Given the description of an element on the screen output the (x, y) to click on. 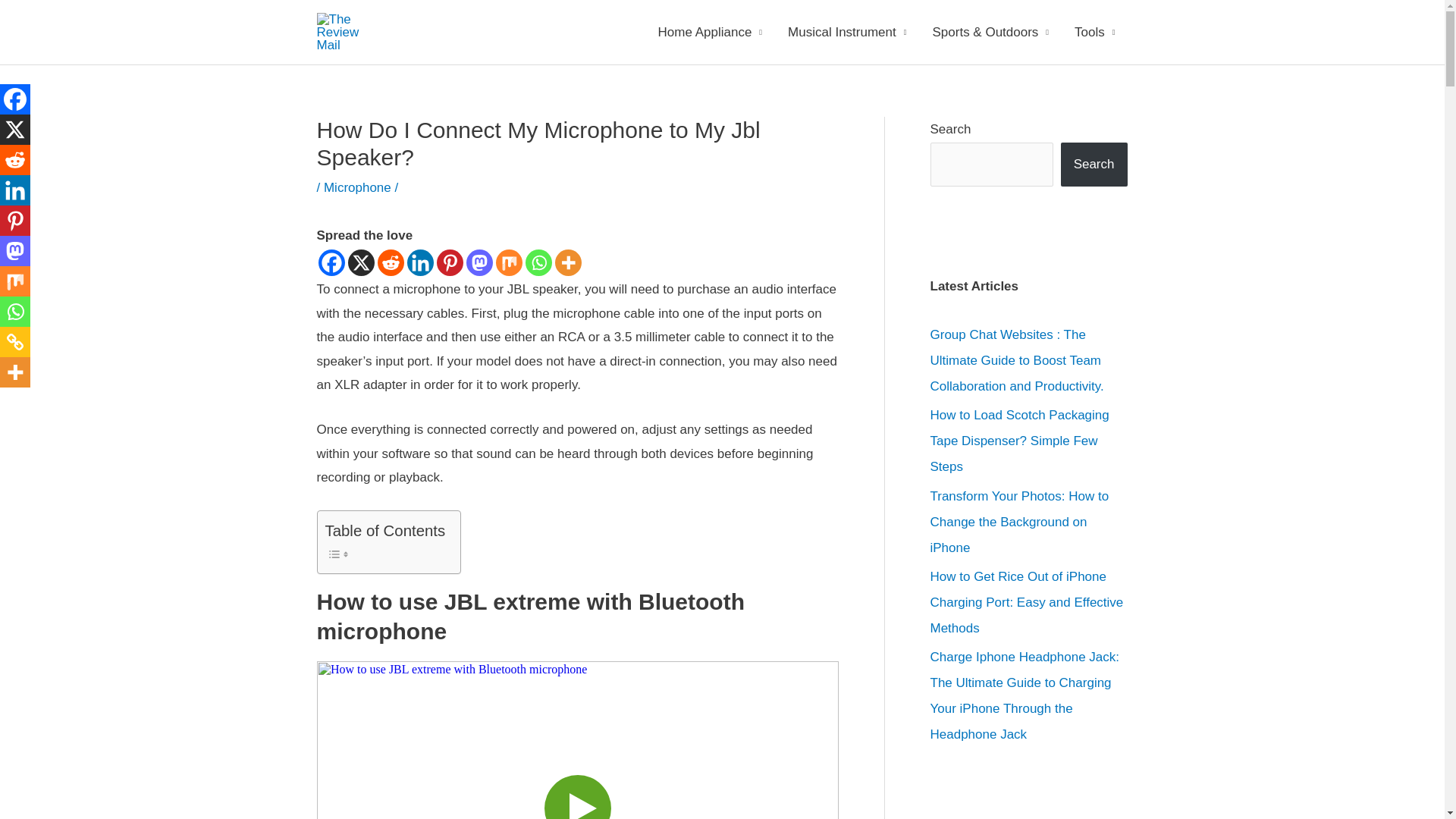
Musical Instrument (846, 31)
Mix (509, 262)
Microphone (357, 187)
More (567, 262)
Facebook (331, 262)
Tools (1093, 31)
Linkedin (419, 262)
Pinterest (449, 262)
Home Appliance (710, 31)
X (360, 262)
